Given the description of an element on the screen output the (x, y) to click on. 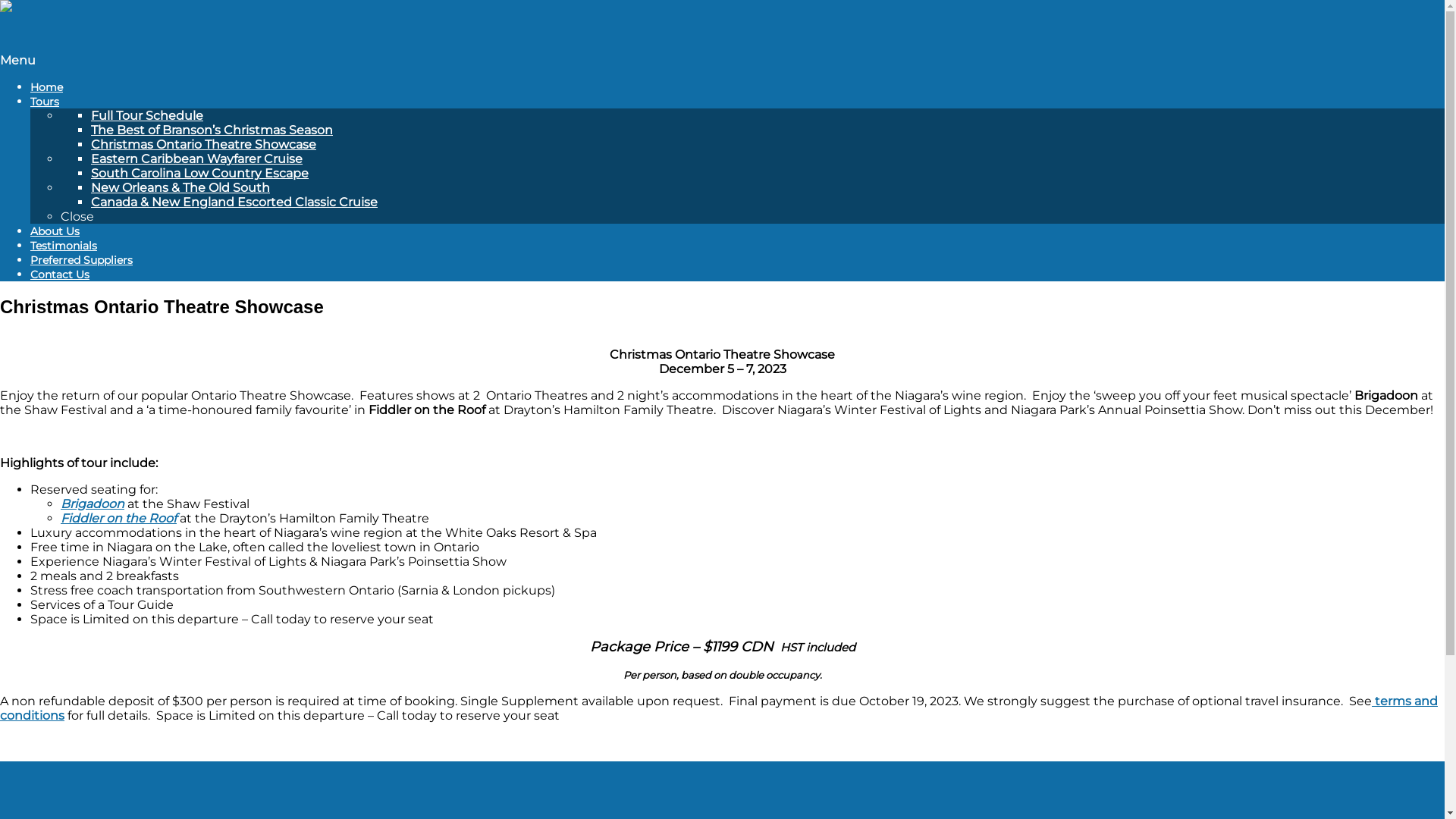
Menu Element type: text (17, 60)
 terms and conditions Element type: text (718, 707)
Tours Element type: text (44, 101)
Brigadoon Element type: text (92, 503)
Christmas Ontario Theatre Showcase Element type: text (203, 144)
About Us Element type: text (54, 231)
Home Element type: text (46, 87)
Eastern Caribbean Wayfarer Cruise Element type: text (196, 158)
Full Tour Schedule Element type: text (147, 115)
Preferred Suppliers Element type: text (81, 259)
Testimonials Element type: text (63, 245)
Fiddler on the Roof Element type: text (118, 518)
New Orleans & The Old South Element type: text (180, 187)
South Carolina Low Country Escape Element type: text (199, 173)
Contact Us Element type: text (59, 274)
Canada & New England Escorted Classic Cruise Element type: text (234, 201)
